Given the description of an element on the screen output the (x, y) to click on. 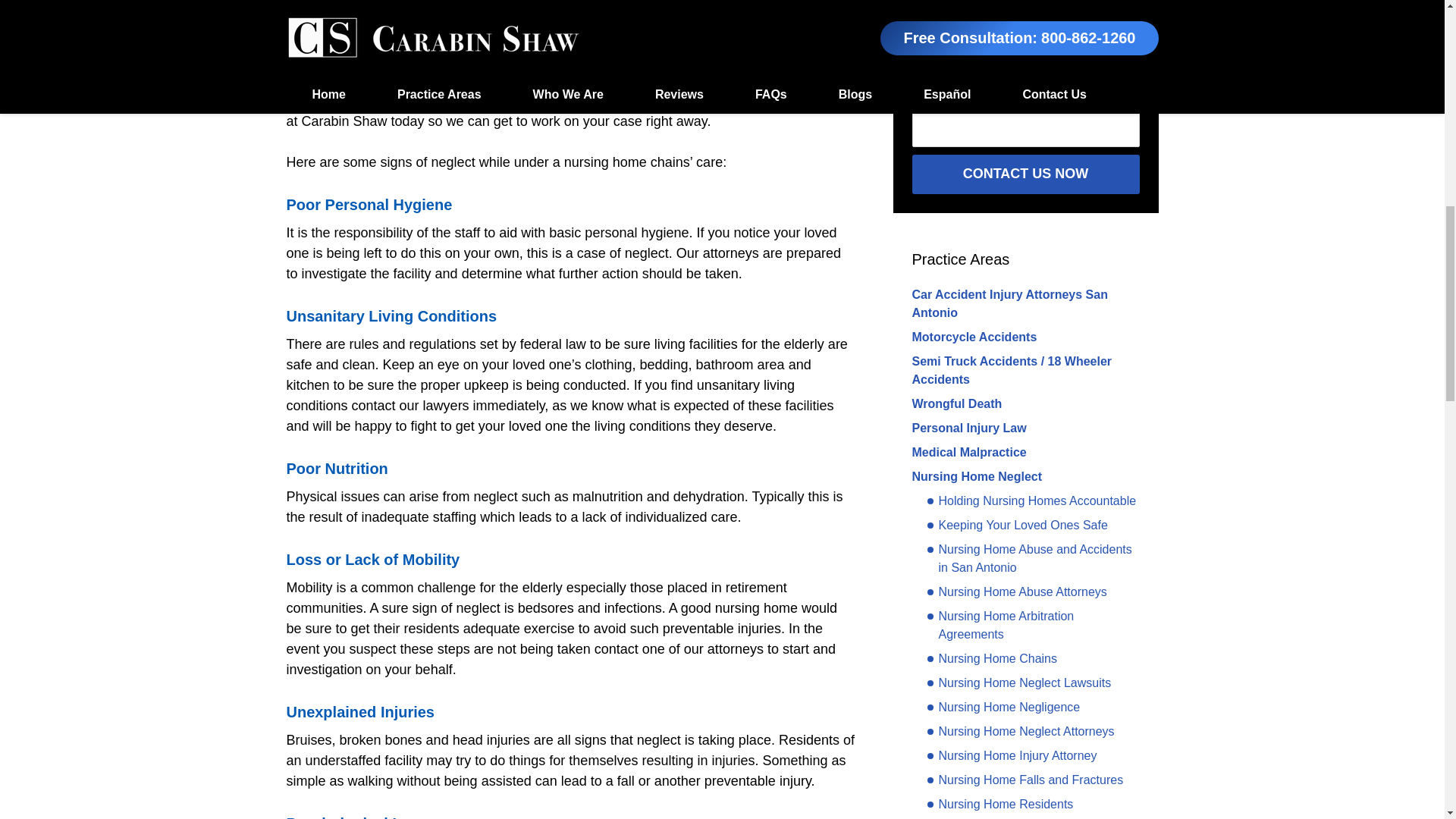
Medical Malpractice (968, 451)
Nursing Home Arbitration Agreements (1032, 625)
Motorcycle Accidents (973, 336)
Nursing Home Neglect Lawsuits (1018, 683)
Nursing Home Neglect Attorneys (1019, 731)
Nursing Home Abuse and Accidents in San Antonio (1032, 558)
Nursing Home Abuse Attorneys (1016, 592)
Nursing Home Negligence (1003, 707)
Nursing Home Chains (991, 659)
Wrongful Death (956, 403)
